Given the description of an element on the screen output the (x, y) to click on. 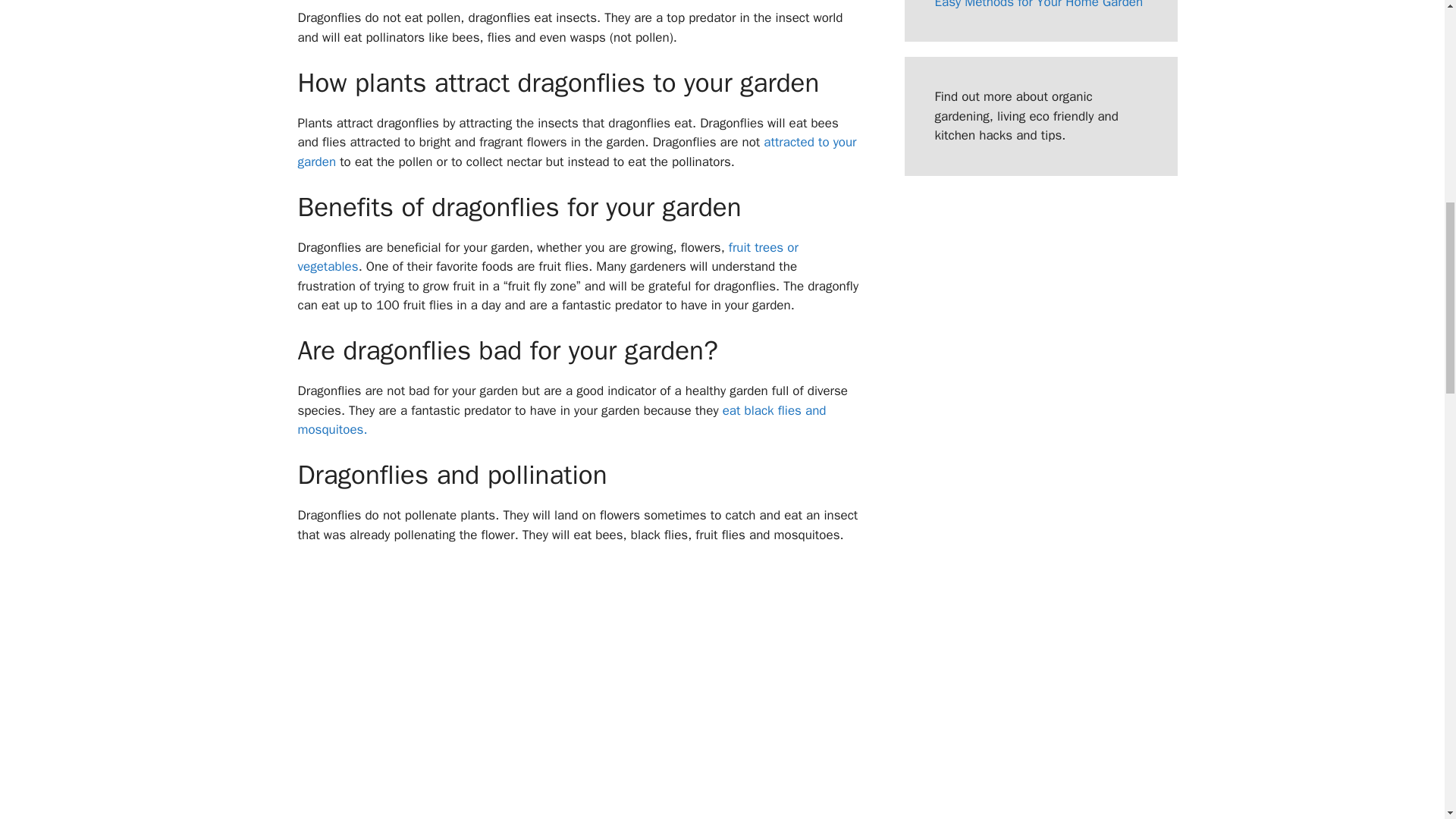
eat black flies and mosquitoes. (561, 420)
attracted to your garden (576, 151)
fruit trees or vegetables (547, 257)
Scroll back to top (1406, 720)
